Given the description of an element on the screen output the (x, y) to click on. 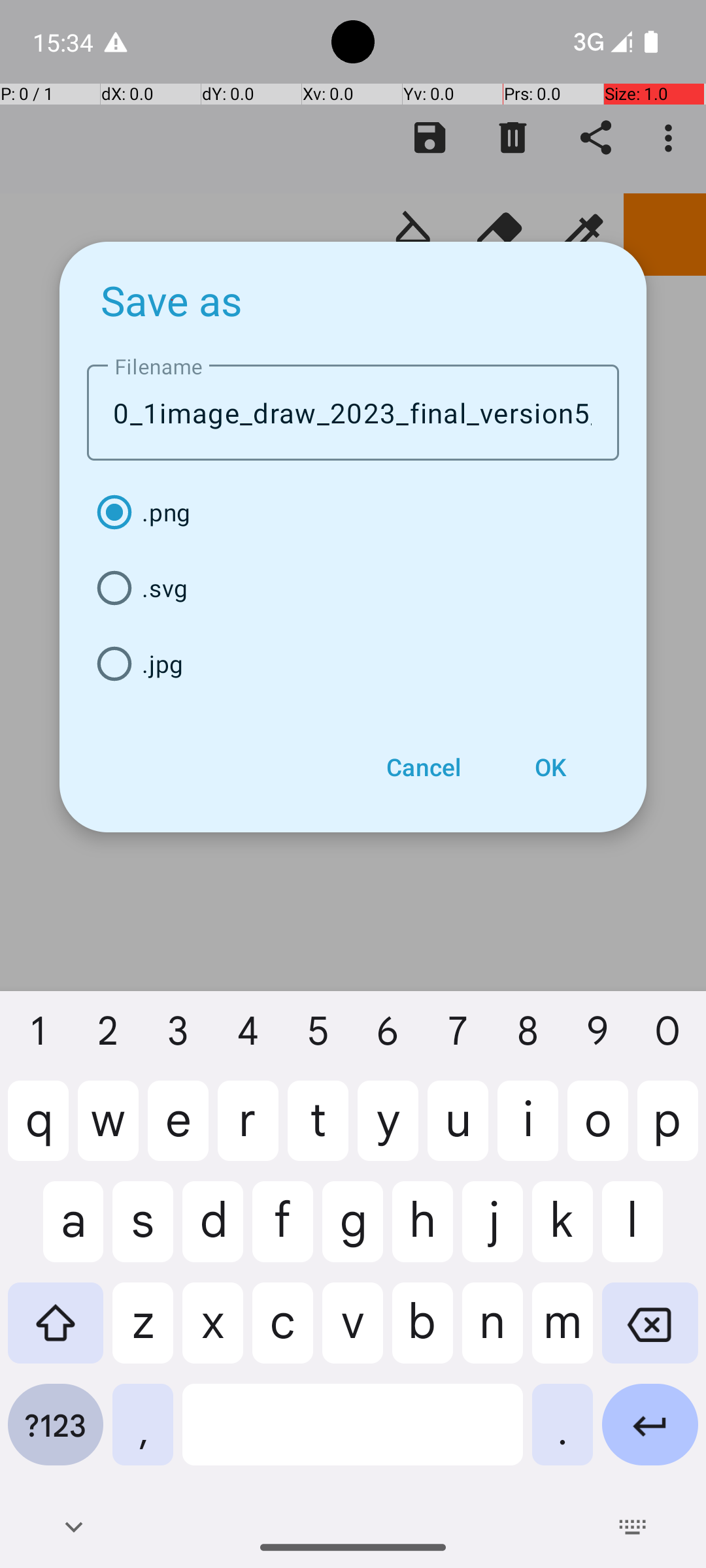
Save as Element type: android.widget.TextView (171, 299)
image_2023_10_1image_draw_2023_final_version5_15_34_07 Element type: android.widget.EditText (352, 412)
.png Element type: android.widget.RadioButton (352, 512)
.svg Element type: android.widget.RadioButton (352, 587)
.jpg Element type: android.widget.RadioButton (352, 663)
